Given the description of an element on the screen output the (x, y) to click on. 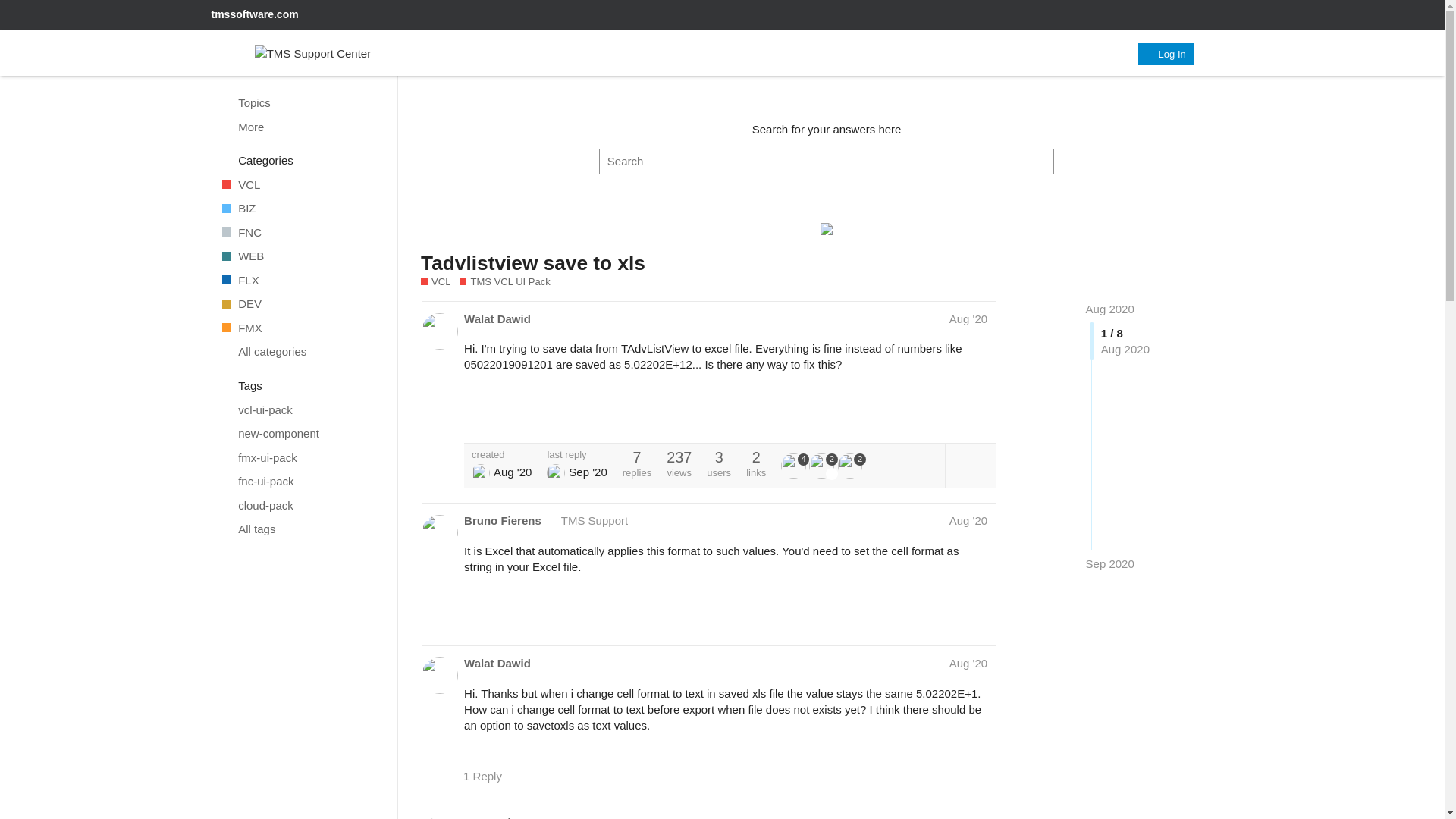
VCL (434, 282)
Components for reporting and handling Excel files (301, 280)
Sep 2020 (1110, 563)
Topics (301, 102)
Log In (1165, 54)
TMS VCL UI Pack (505, 282)
FNC (301, 232)
new-component (301, 433)
fnc-ui-pack (301, 481)
VCL (301, 184)
Components for Windows development (301, 184)
Walat Dawid (497, 318)
fmx-ui-pack (301, 457)
Aug 2020 (1110, 308)
vcl-ui-pack (301, 409)
